Given the description of an element on the screen output the (x, y) to click on. 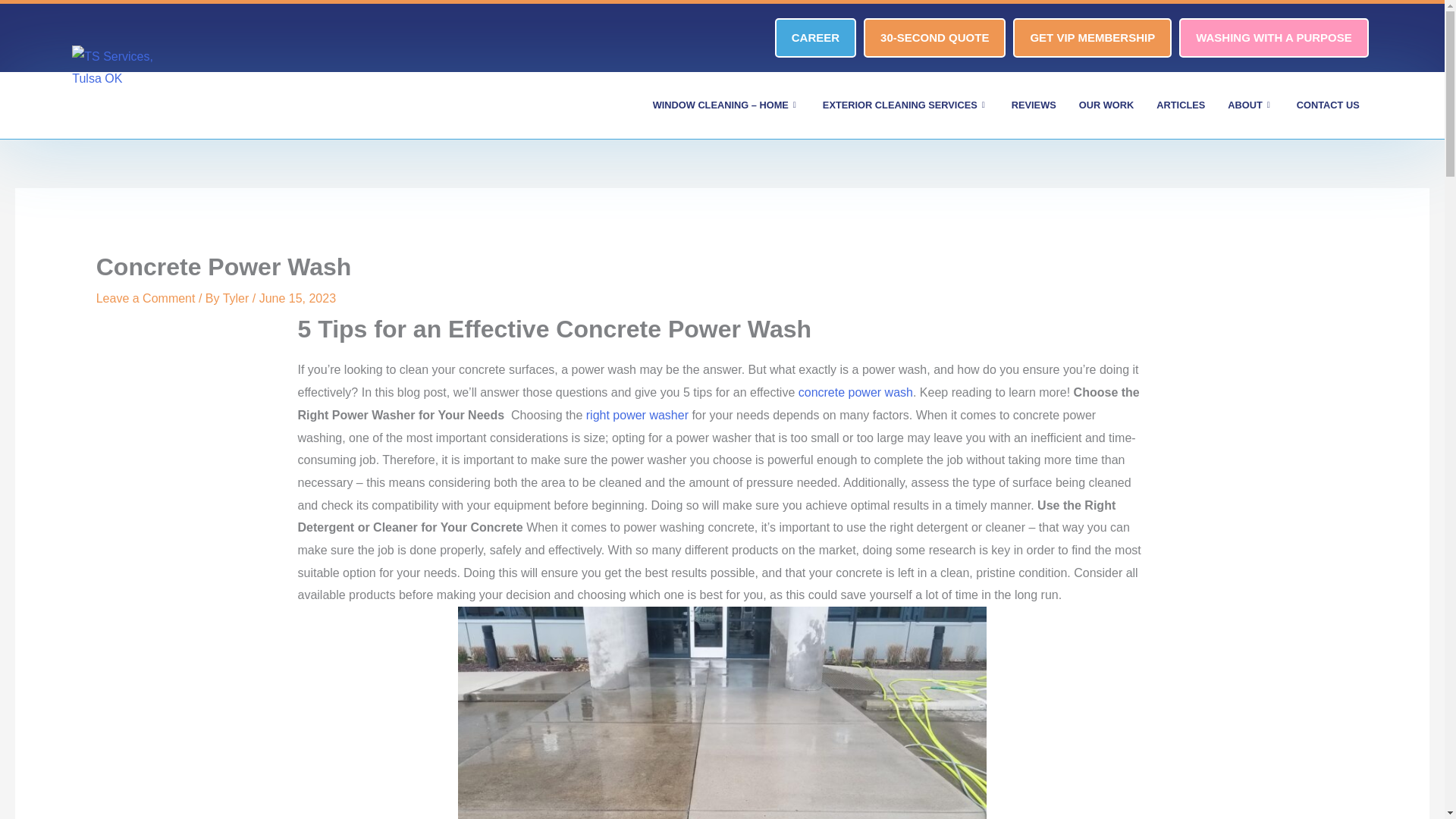
ABOUT (1250, 105)
View all posts by Tyler (236, 297)
OUR WORK (1106, 105)
WASHING WITH A PURPOSE (1273, 37)
30-SECOND QUOTE (934, 37)
GET VIP MEMBERSHIP (1092, 37)
CONTACT US (1328, 105)
CAREER (815, 37)
EXTERIOR CLEANING SERVICES (905, 105)
ARTICLES (1179, 105)
REVIEWS (1033, 105)
